Given the description of an element on the screen output the (x, y) to click on. 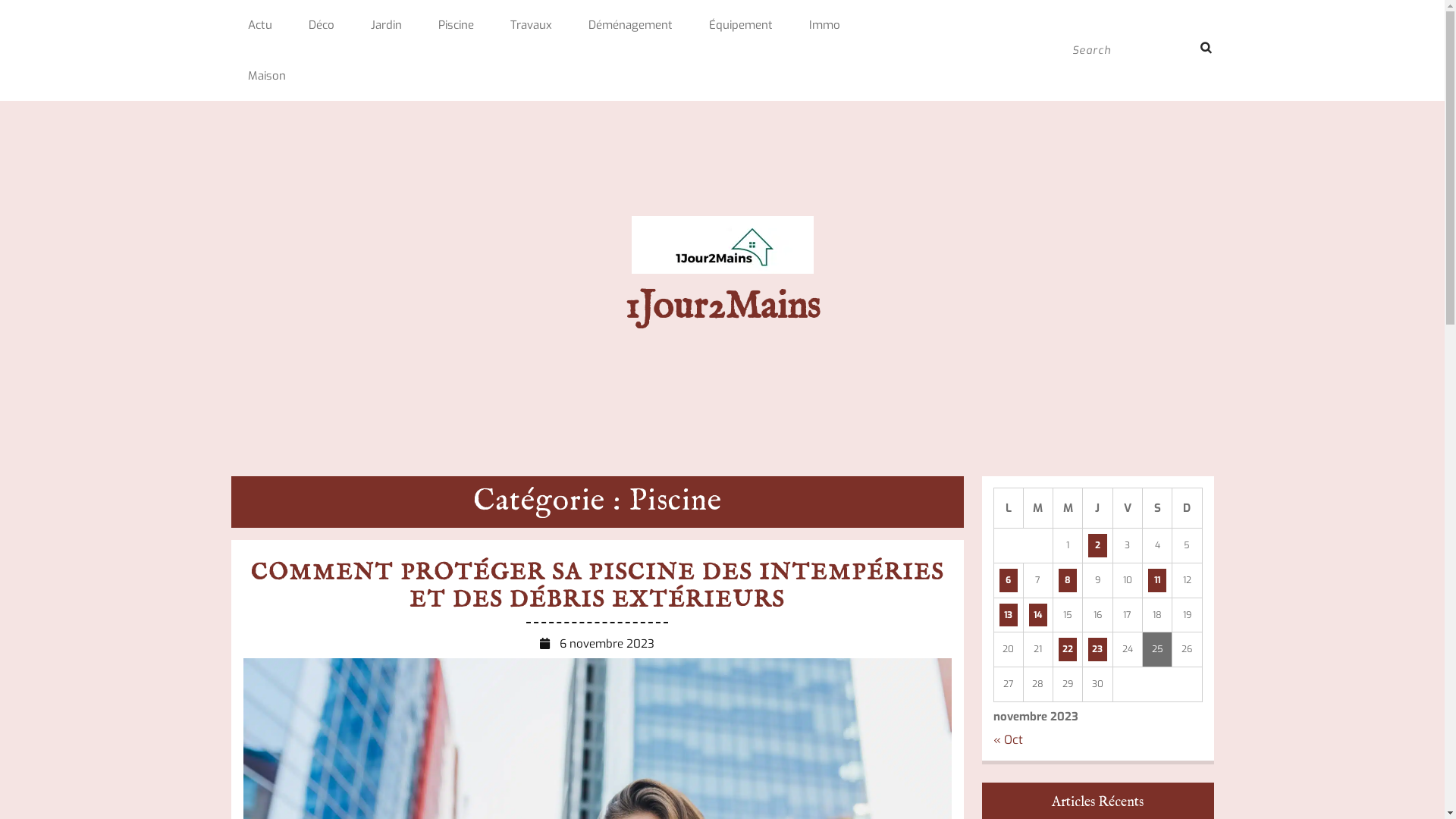
Travaux Element type: text (529, 25)
Jardin Element type: text (385, 25)
2 Element type: text (1097, 545)
Actu Element type: text (259, 25)
Piscine Element type: text (455, 25)
23 Element type: text (1097, 649)
13 Element type: text (1008, 615)
14 Element type: text (1038, 615)
6 Element type: text (1008, 580)
8 Element type: text (1067, 580)
1Jour2Mains Element type: text (721, 307)
Immo Element type: text (823, 25)
Search Element type: text (1198, 48)
6 novembre 2023
6 novembre 2023 Element type: text (606, 643)
Maison Element type: text (265, 75)
11 Element type: text (1157, 580)
22 Element type: text (1067, 649)
